Given the description of an element on the screen output the (x, y) to click on. 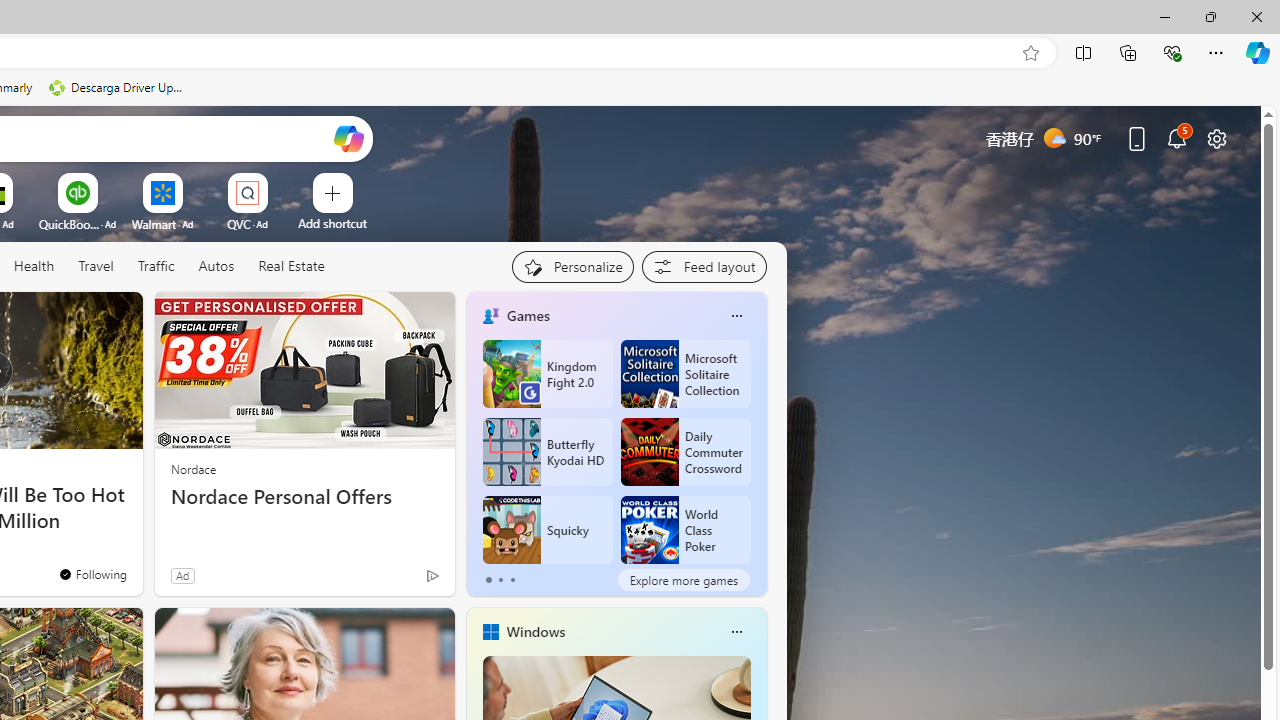
Descarga Driver Updater (118, 88)
